Given the description of an element on the screen output the (x, y) to click on. 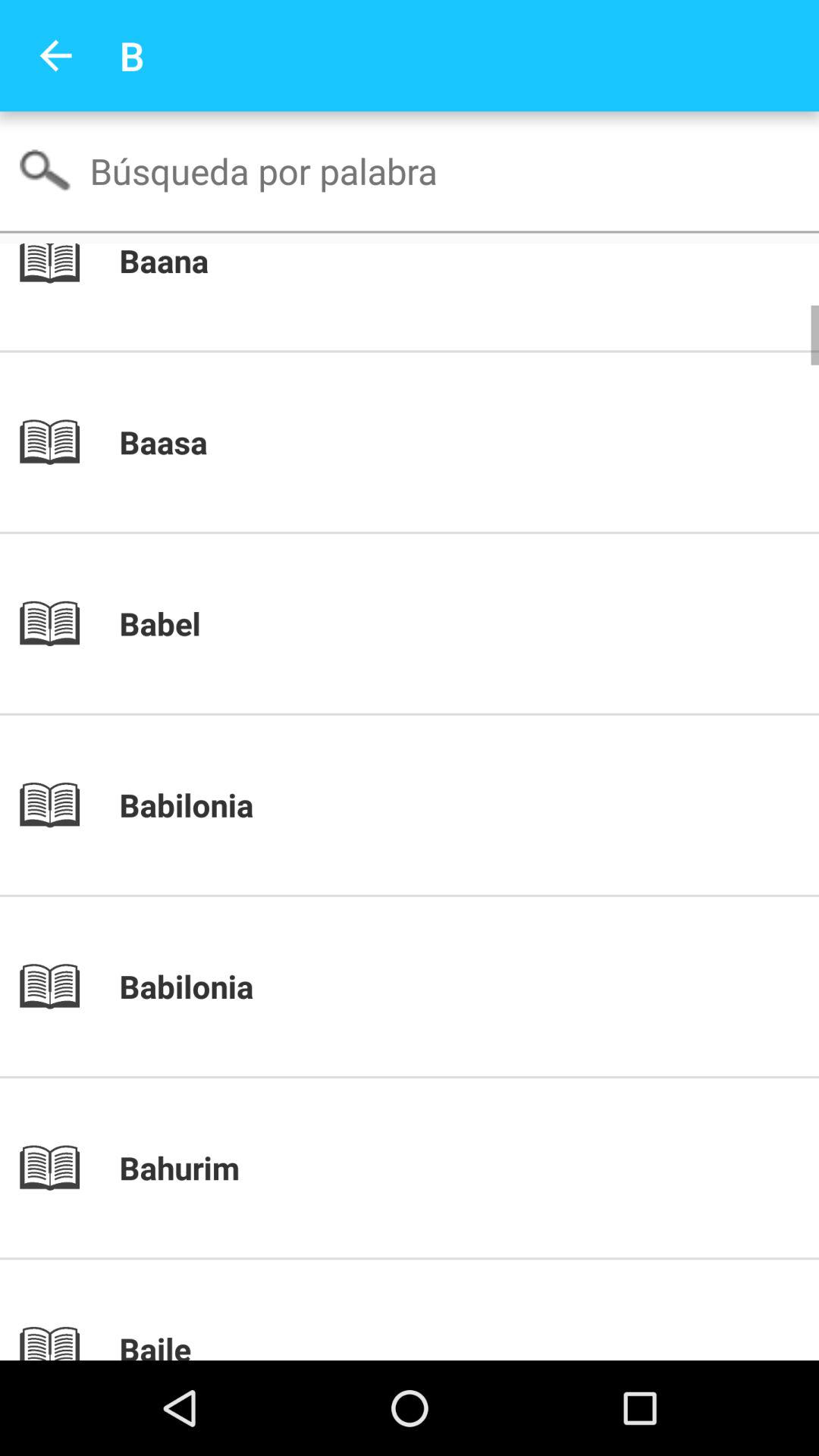
turn on the item next to b item (55, 55)
